Given the description of an element on the screen output the (x, y) to click on. 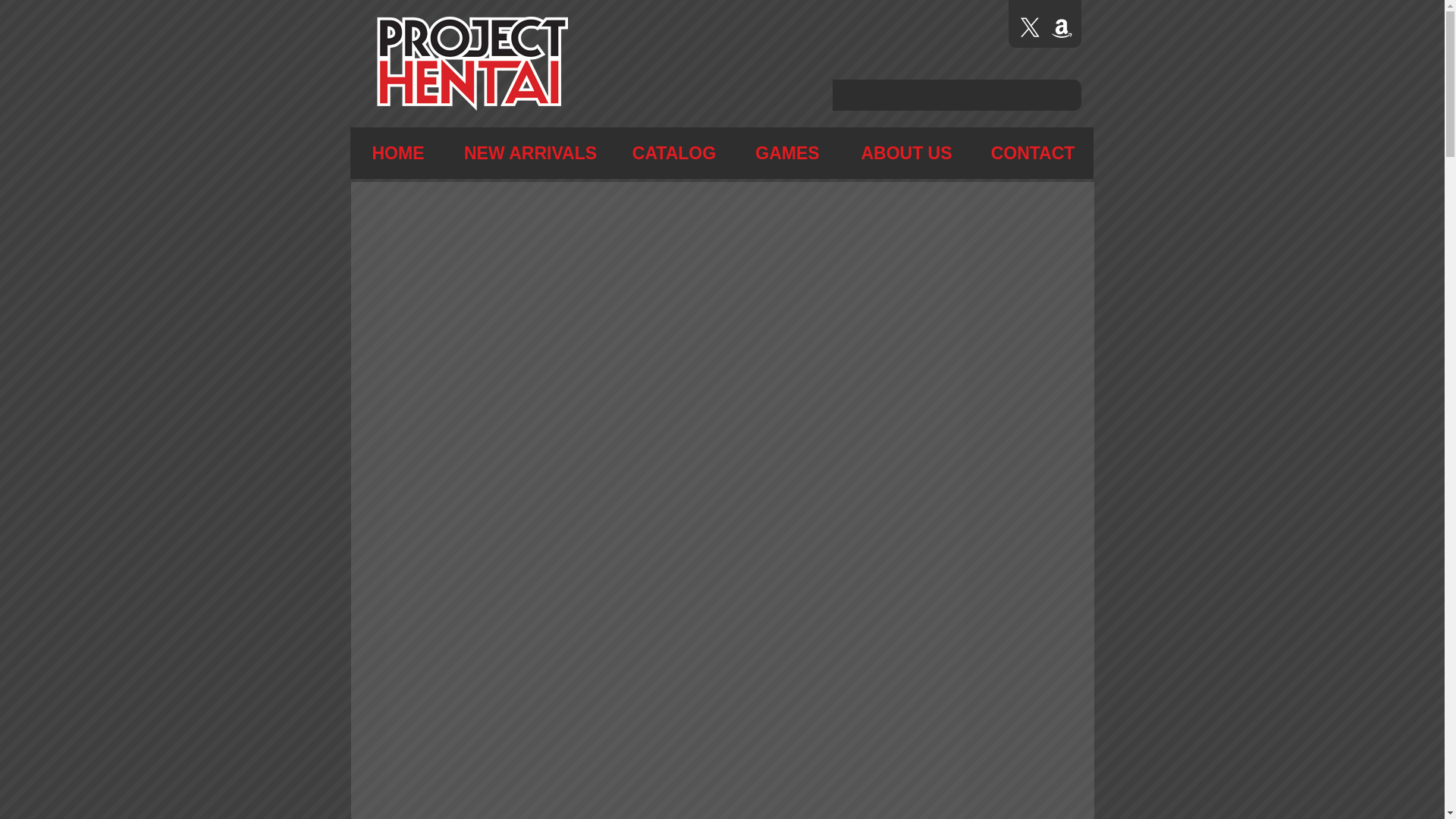
ABOUT US (905, 153)
CONTACT (1032, 153)
NEW ARRIVALS (528, 153)
GAMES (787, 153)
CATALOG (673, 153)
HOME (398, 153)
